Given the description of an element on the screen output the (x, y) to click on. 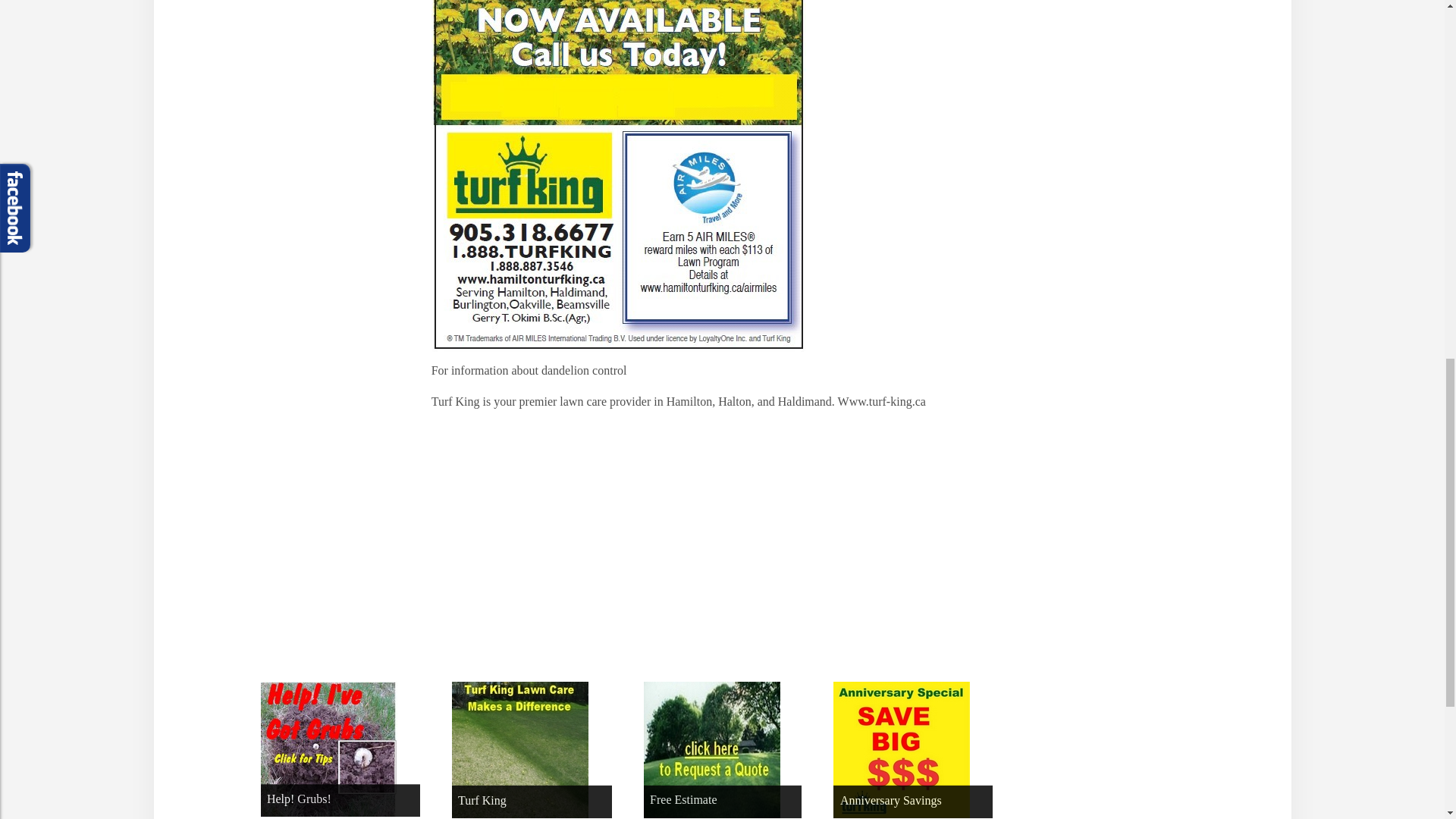
Lawn Care Weed Control by Turf King (618, 176)
dandelion control  (584, 369)
Submit to Twitter (654, 542)
Submit to Facebook (551, 542)
Submit to Delicious (448, 542)
Submit to Digg (499, 542)
Submit to Google Bookmarks (603, 542)
Submit to LinkedIn (705, 542)
Www.turf-king.ca (882, 400)
